Given the description of an element on the screen output the (x, y) to click on. 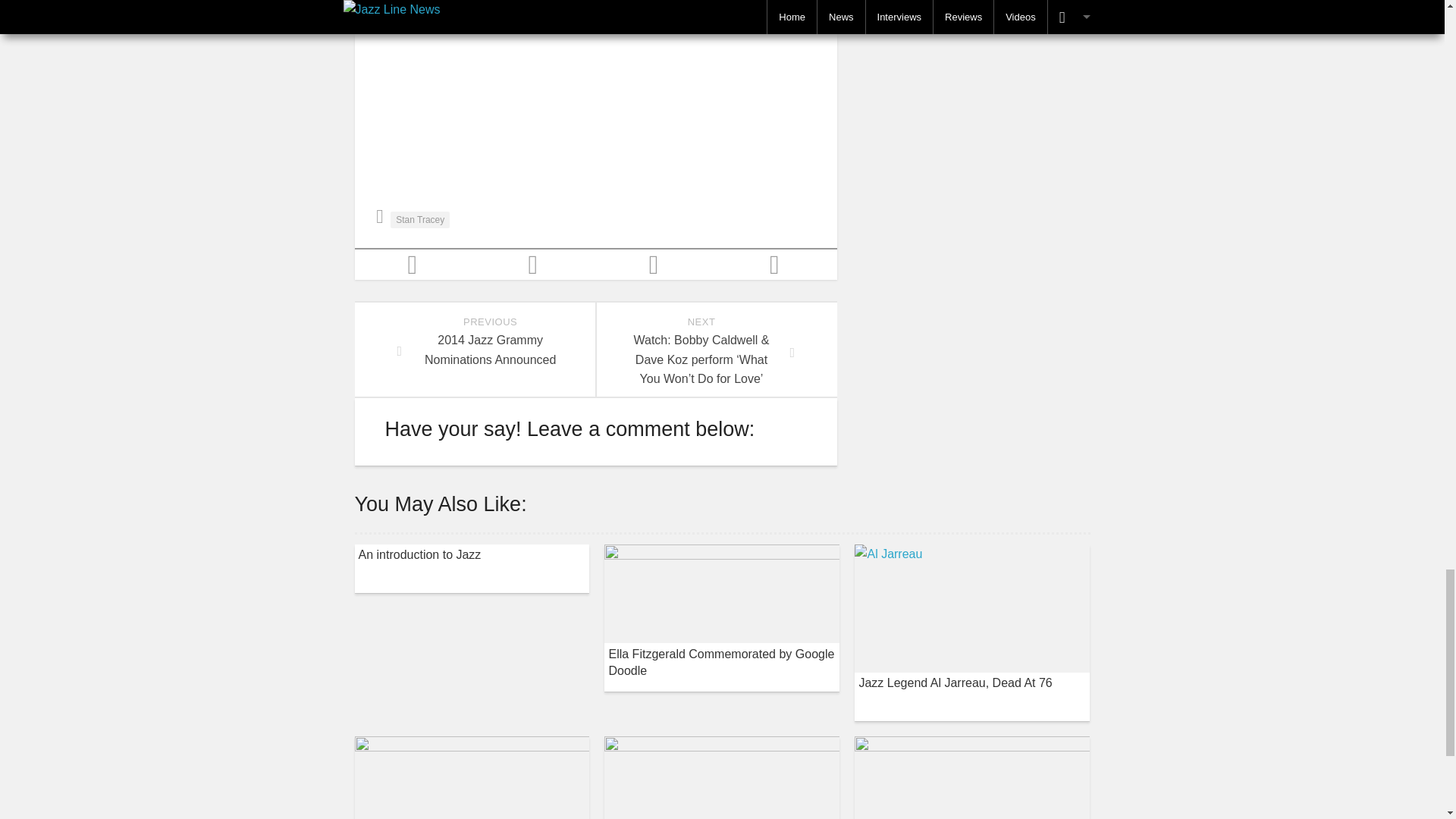
Share This Article on Twitter (415, 264)
Share This Article on Reddit (776, 264)
Share This Article via email (655, 264)
Share This Article on Facebook (535, 264)
Stan Tracey (419, 219)
